Given the description of an element on the screen output the (x, y) to click on. 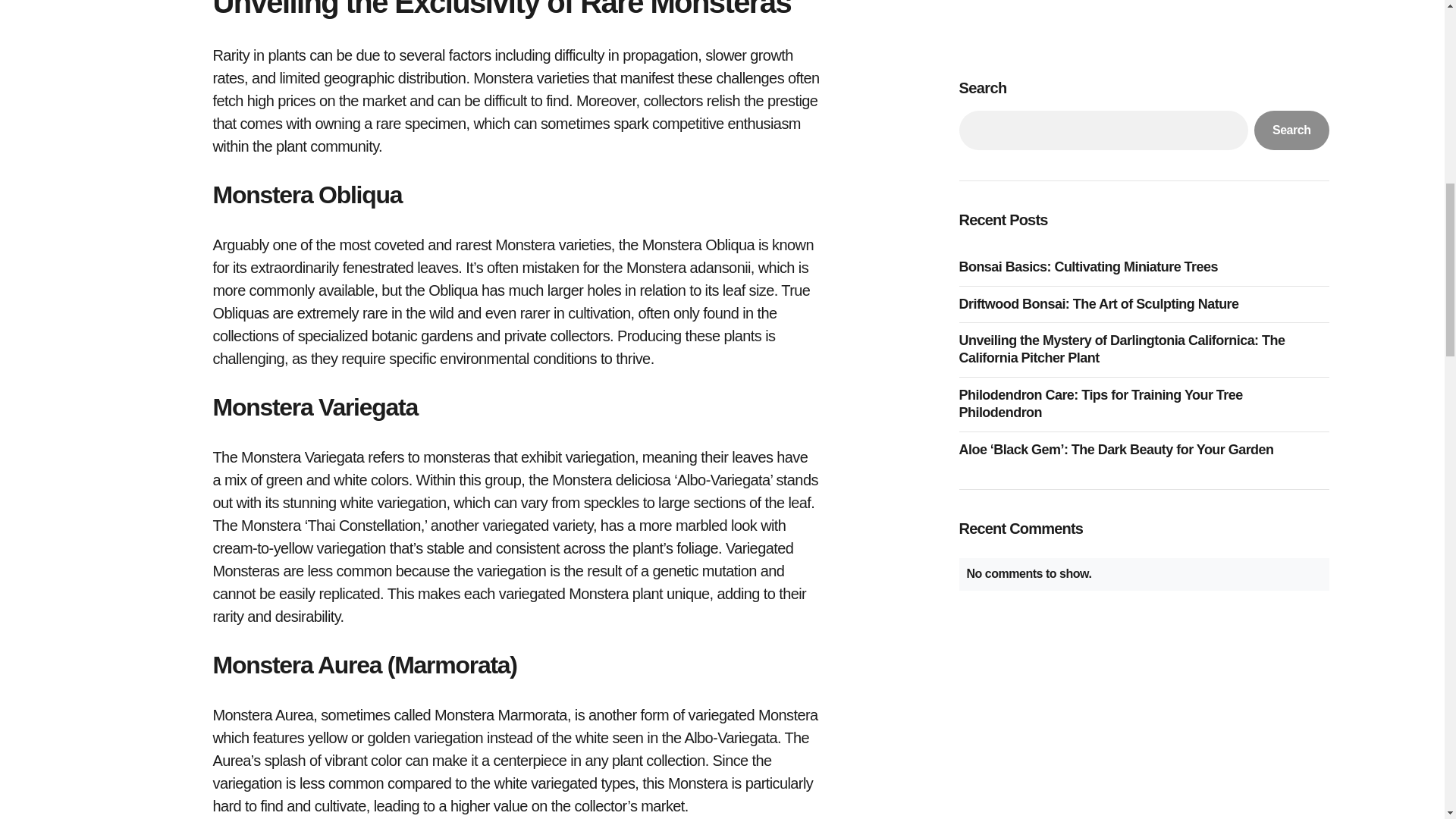
Driftwood Bonsai: The Art of Sculpting Nature (1102, 1)
Philodendron Care: Tips for Training Your Tree Philodendron (1142, 94)
